Given the description of an element on the screen output the (x, y) to click on. 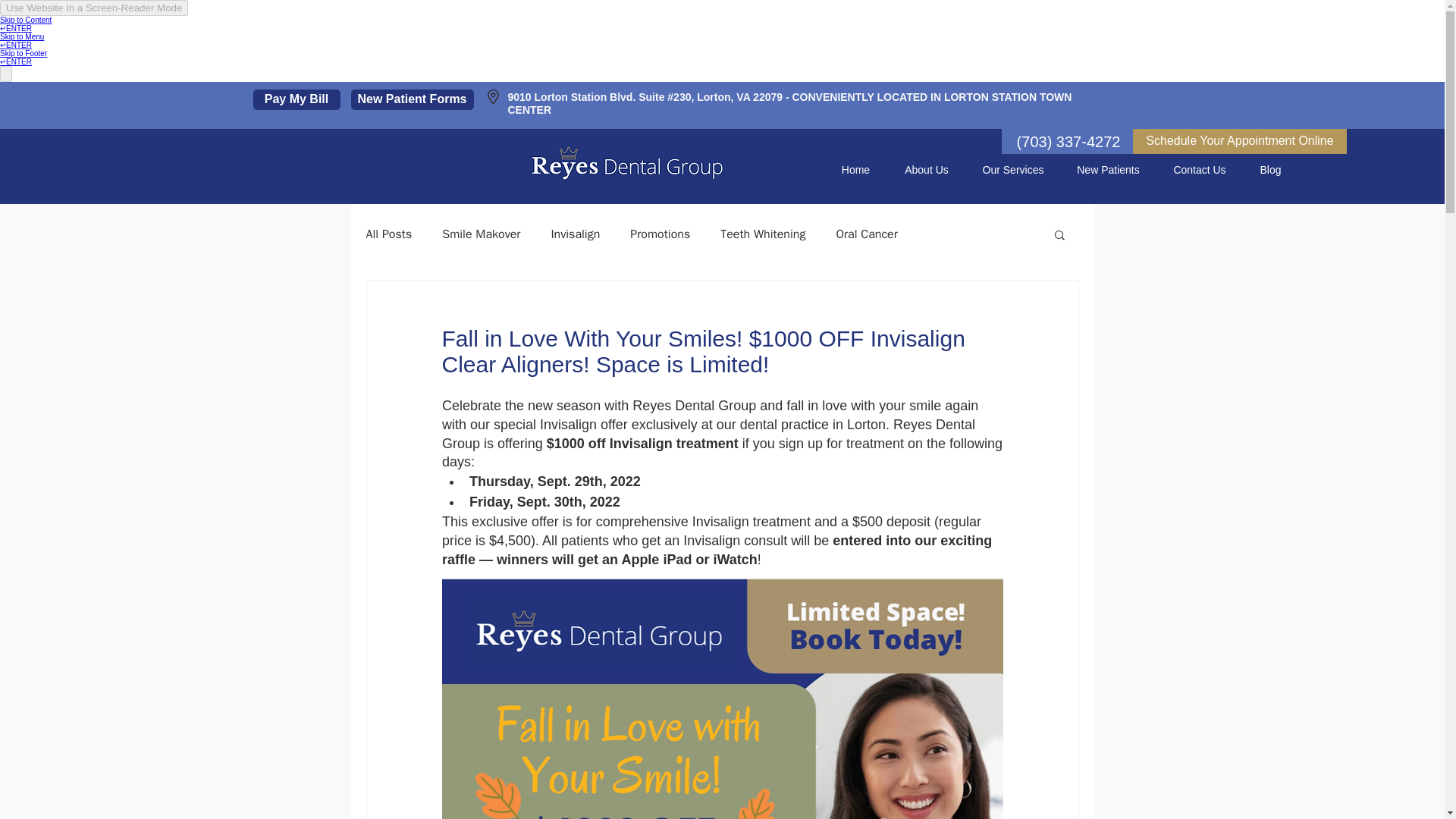
New Patient Forms (411, 99)
Pay My Bill (296, 99)
Invisalign (574, 233)
Blog (1270, 169)
Teeth Whitening (762, 233)
Oral Cancer (865, 233)
Home (855, 169)
Contact Us (1199, 169)
Schedule Your Appointment Online (1239, 140)
Promotions (660, 233)
